Given the description of an element on the screen output the (x, y) to click on. 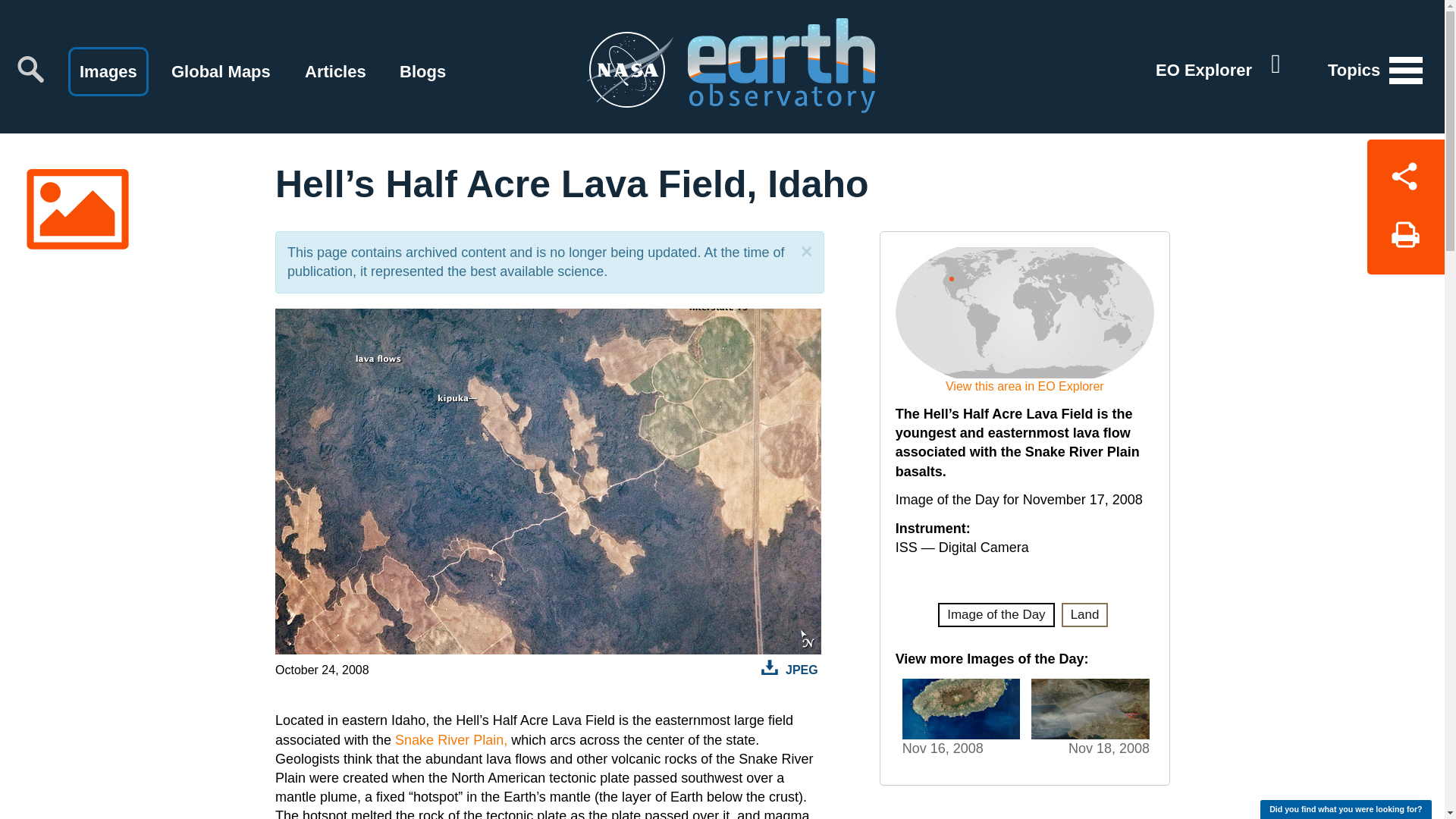
pointer (951, 276)
Share (1405, 173)
Search (30, 69)
Print (1405, 240)
